Given the description of an element on the screen output the (x, y) to click on. 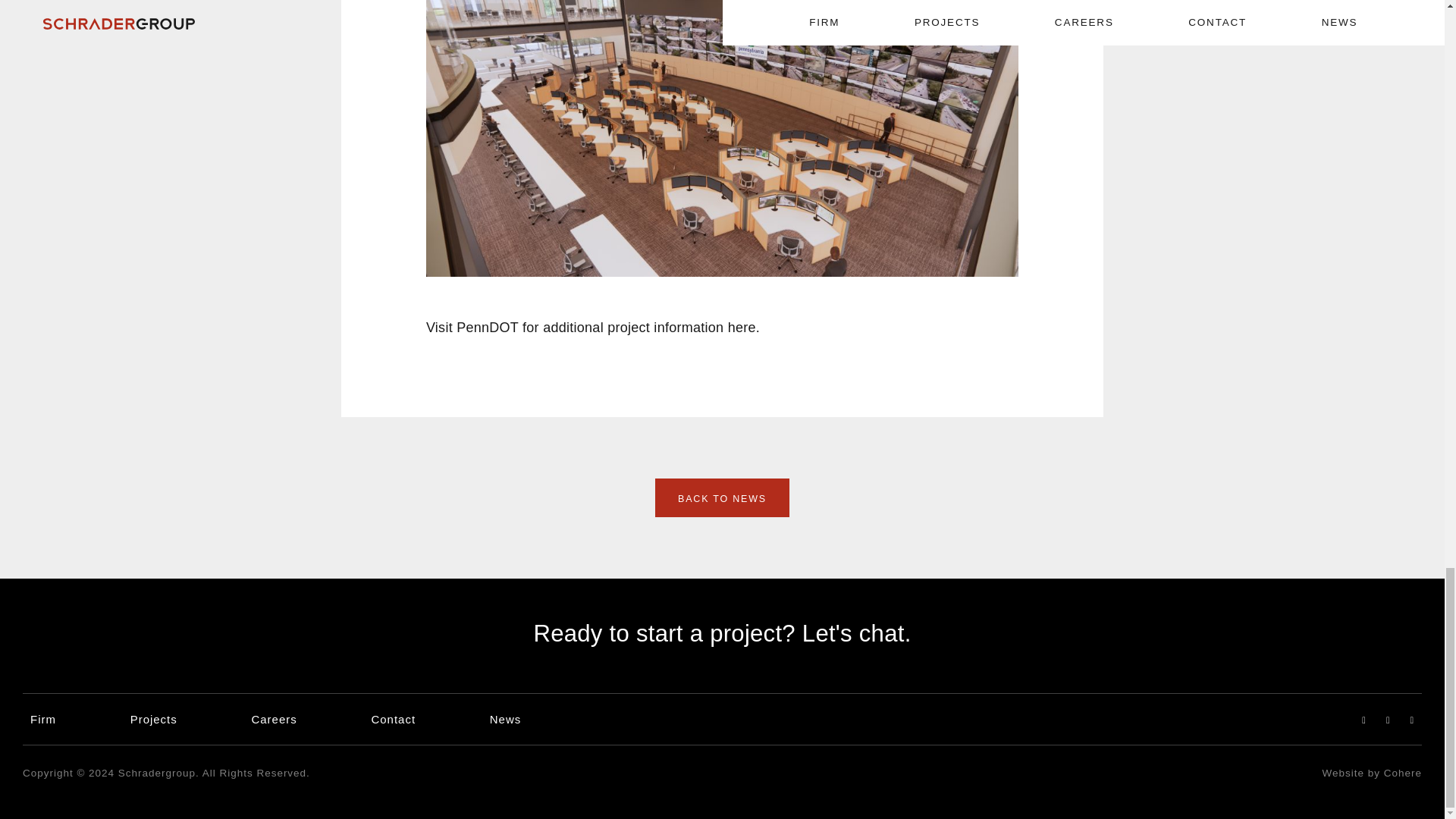
Cohere (1403, 772)
Projects (154, 718)
Careers (273, 718)
Firm (43, 718)
here (741, 327)
Contact (392, 718)
News (505, 718)
BACK TO NEWS (722, 497)
Let's chat (853, 633)
